Given the description of an element on the screen output the (x, y) to click on. 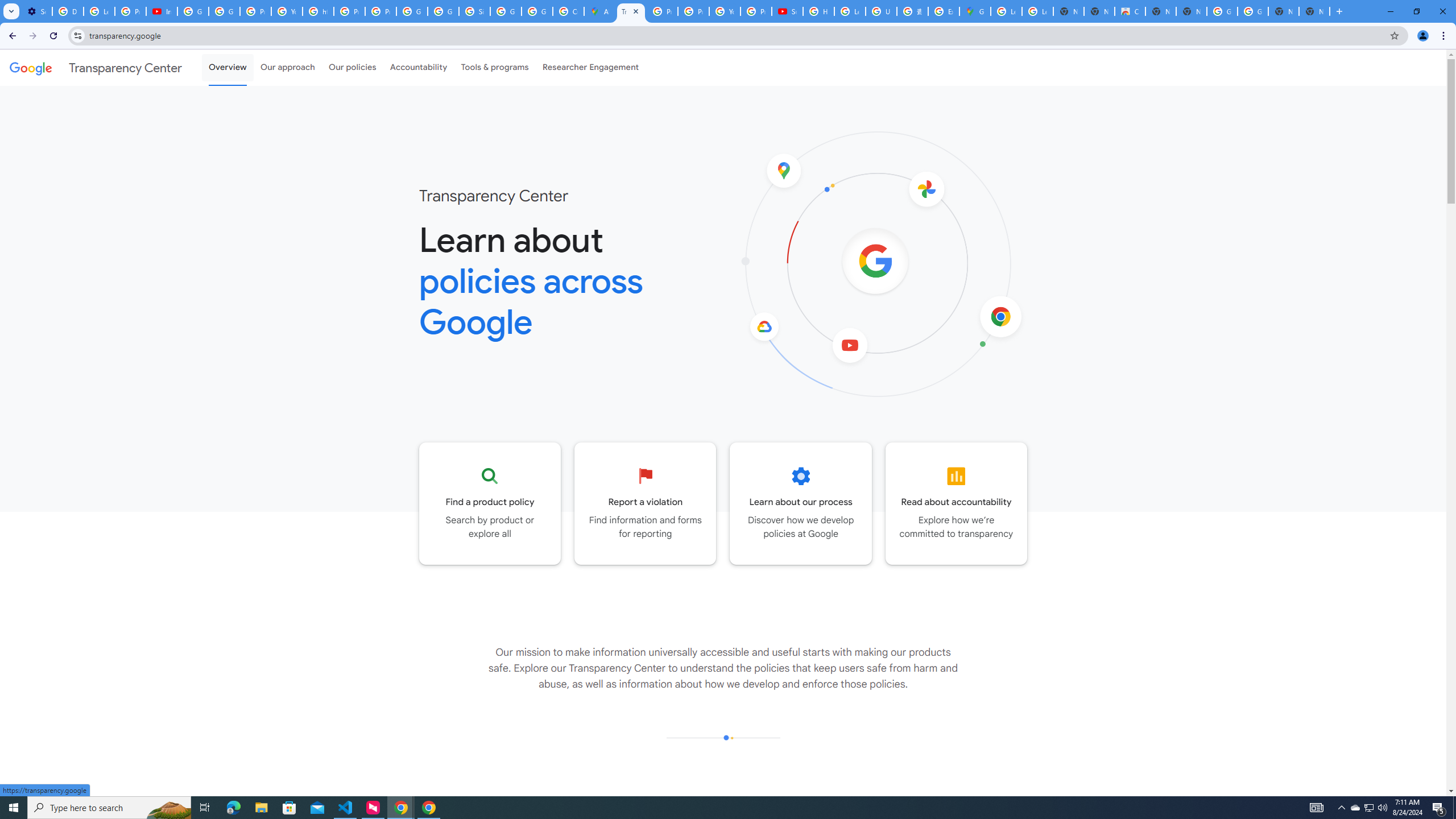
Sign in - Google Accounts (474, 11)
Explore new street-level details - Google Maps Help (943, 11)
Delete photos & videos - Computer - Google Photos Help (67, 11)
Introduction | Google Privacy Policy - YouTube (161, 11)
